Given the description of an element on the screen output the (x, y) to click on. 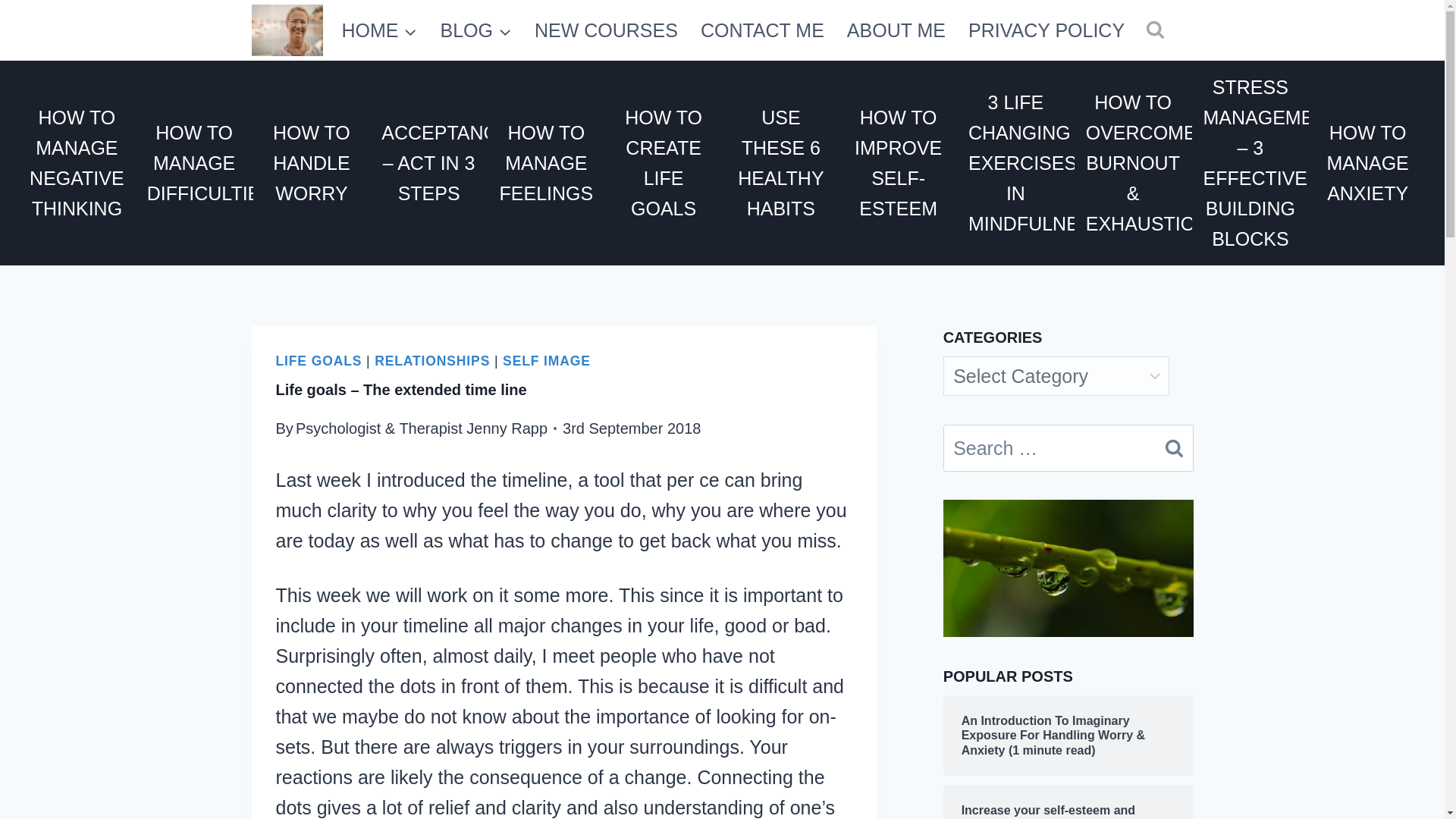
LIFE GOALS (319, 360)
NEW COURSES (605, 30)
HOW TO MANAGE FEELINGS (546, 163)
CONTACT ME (761, 30)
SELF IMAGE (546, 360)
ABOUT ME (895, 30)
BLOG (475, 30)
HOME (379, 30)
HOW TO MANAGE ANXIETY (1367, 163)
HOW TO HANDLE WORRY (312, 163)
PRIVACY POLICY (1045, 30)
HOW TO MANAGE DIFFICULTIES (194, 163)
RELATIONSHIPS (431, 360)
